Given the description of an element on the screen output the (x, y) to click on. 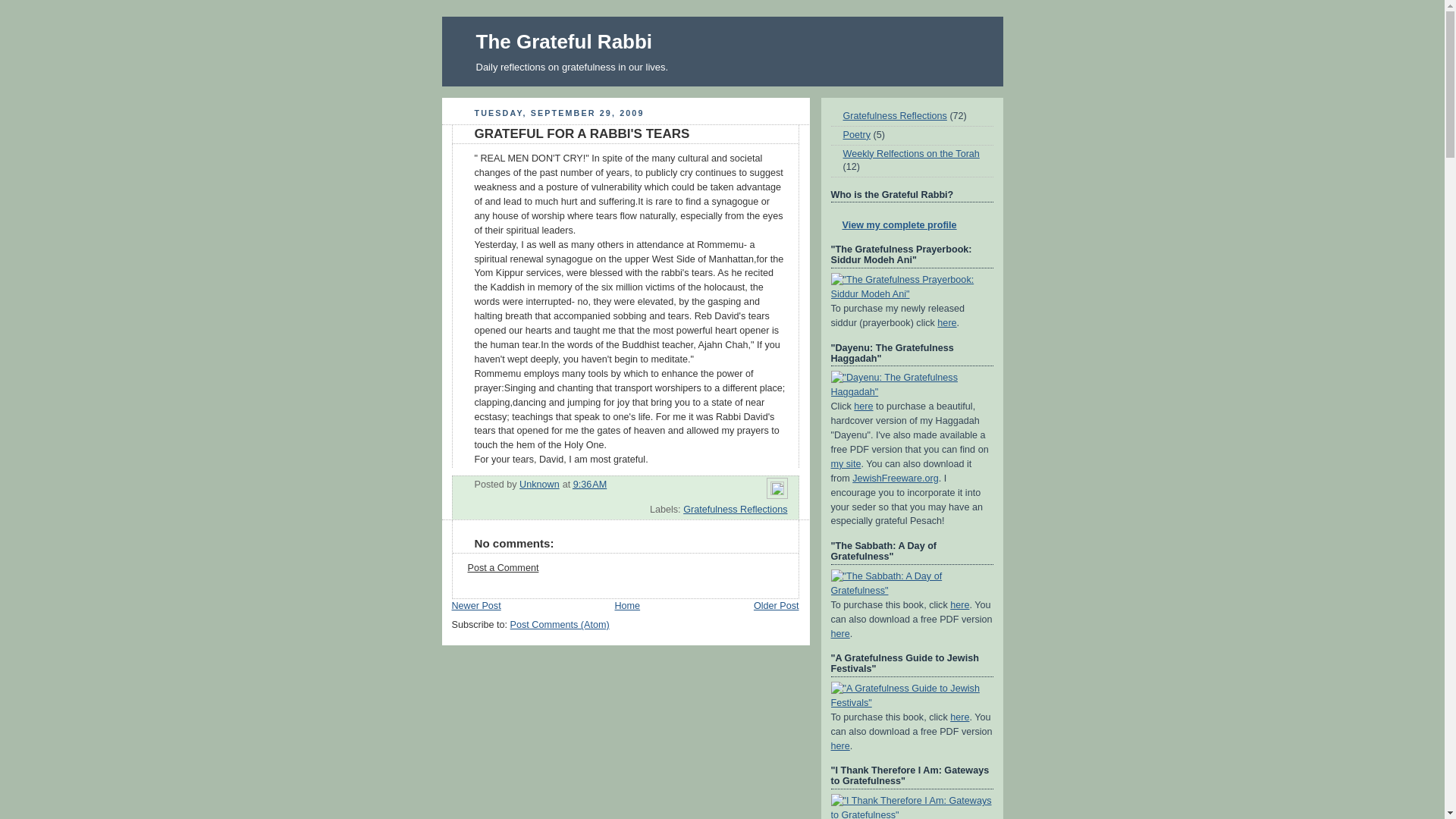
Newer Post (475, 605)
permanent link (590, 484)
here (840, 633)
Gratefulness Reflections (895, 115)
here (840, 746)
Post a Comment (502, 567)
Gratefulness Reflections (734, 509)
here (946, 322)
Home (627, 605)
Weekly Relfections on the Torah (911, 153)
Newer Post (475, 605)
here (959, 716)
Edit Post (776, 491)
author profile (539, 484)
Unknown (539, 484)
